Given the description of an element on the screen output the (x, y) to click on. 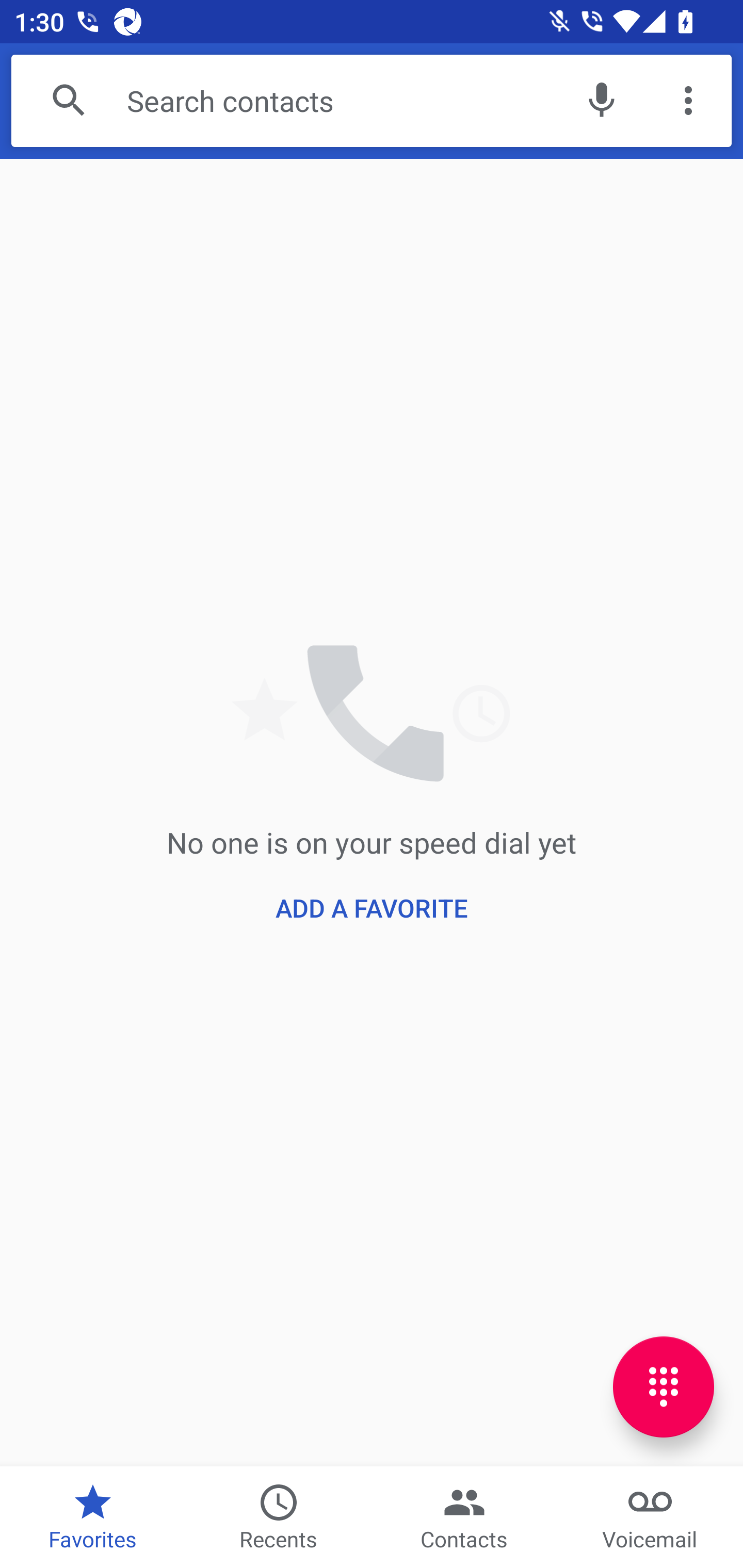
Search contacts Start voice search More options (371, 100)
Start voice search (600, 101)
More options (687, 101)
No one is on your speed dial yet ADD A FAVORITE (371, 812)
ADD A FAVORITE (371, 907)
key pad (663, 1386)
Favorites (92, 1517)
Recents (278, 1517)
Contacts (464, 1517)
Voicemail (650, 1517)
